Given the description of an element on the screen output the (x, y) to click on. 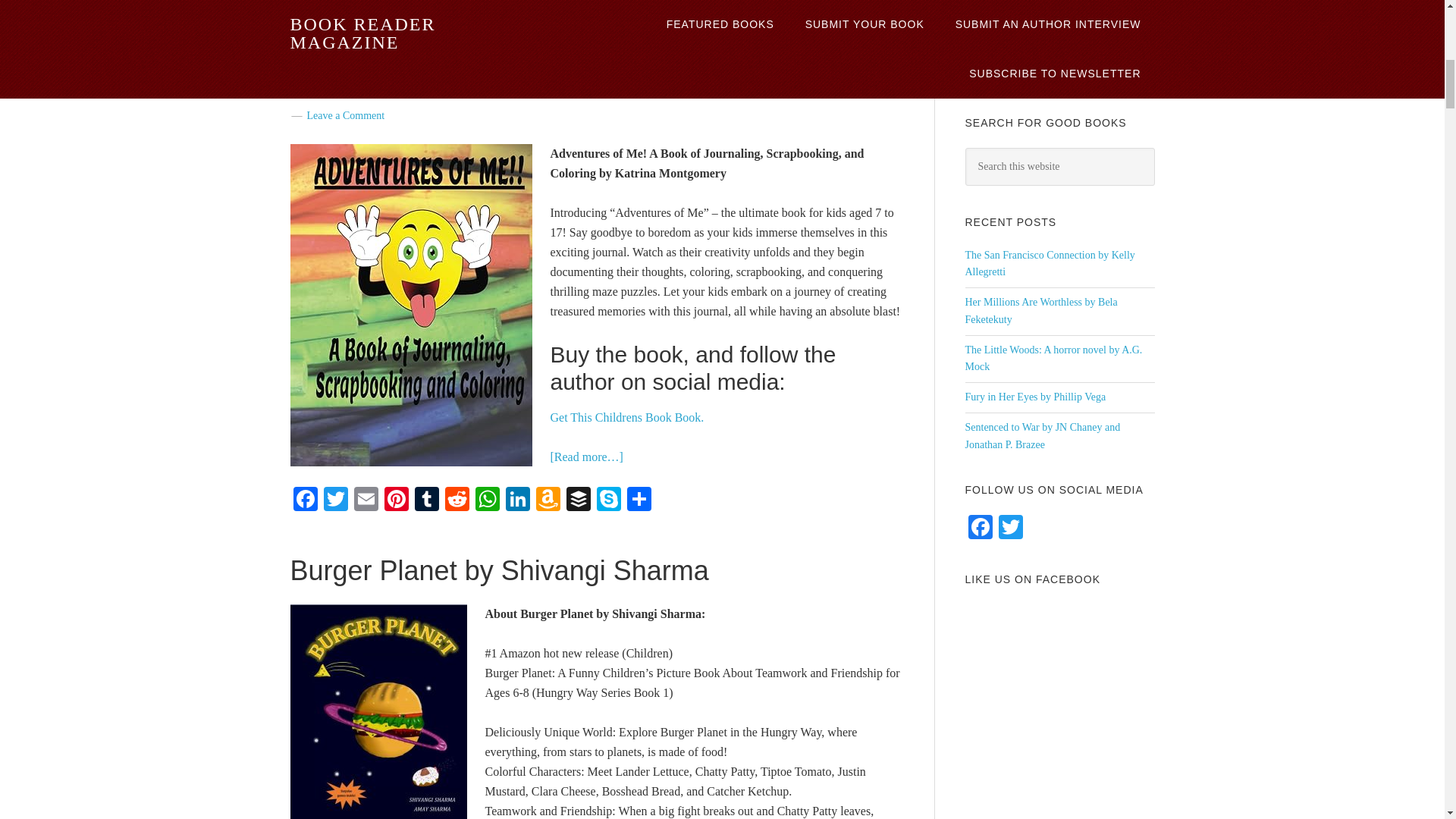
Get This Childrens Book Book. (627, 417)
Leave a Comment (344, 114)
LinkedIn (517, 500)
Pinterest (395, 500)
Buffer (577, 500)
Tumblr (425, 500)
Facebook (304, 500)
Skype (607, 500)
Email (365, 500)
Twitter (335, 500)
Amazon Wish List (547, 500)
Email (365, 500)
